Given the description of an element on the screen output the (x, y) to click on. 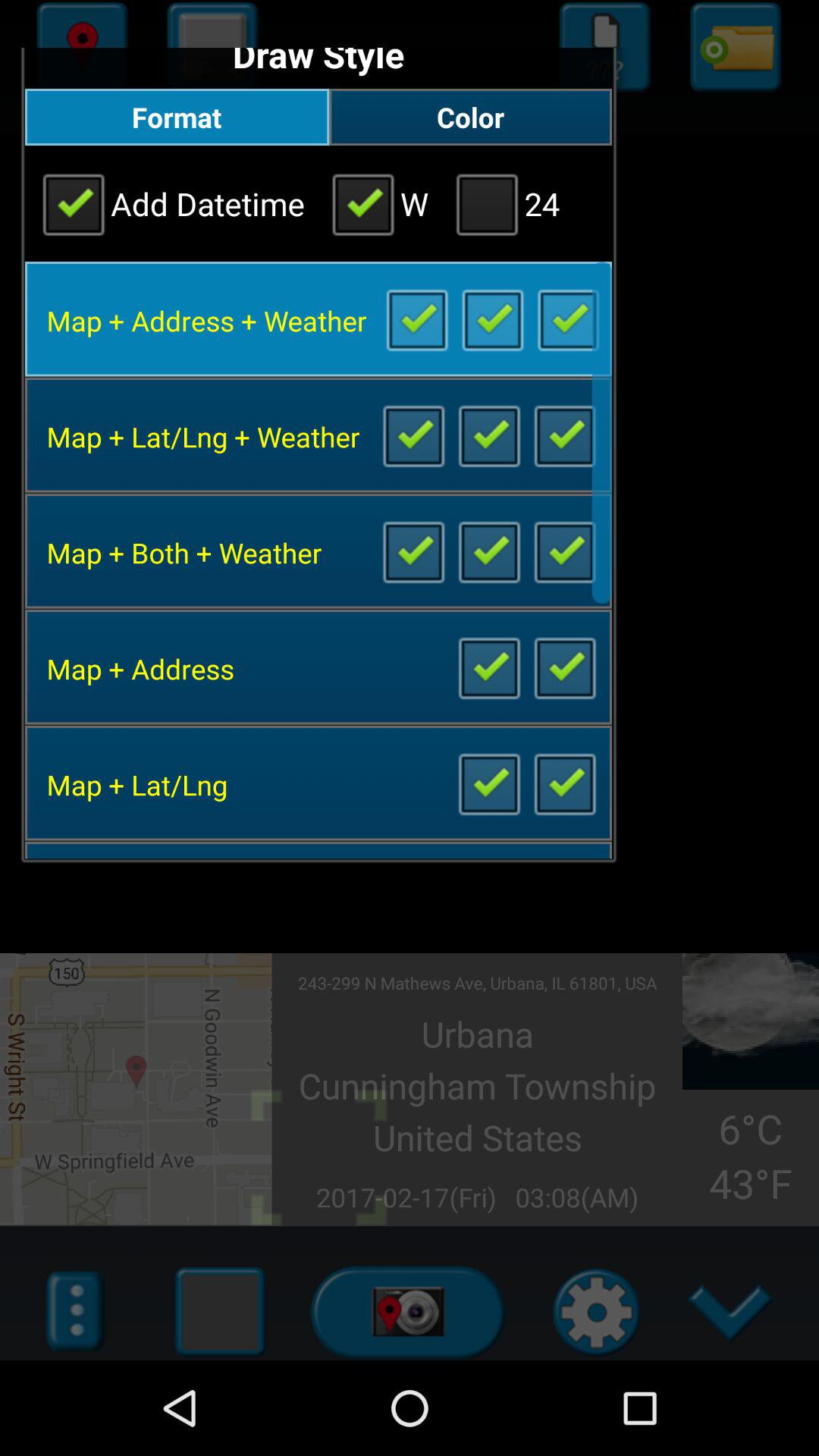
include widget (564, 666)
